Given the description of an element on the screen output the (x, y) to click on. 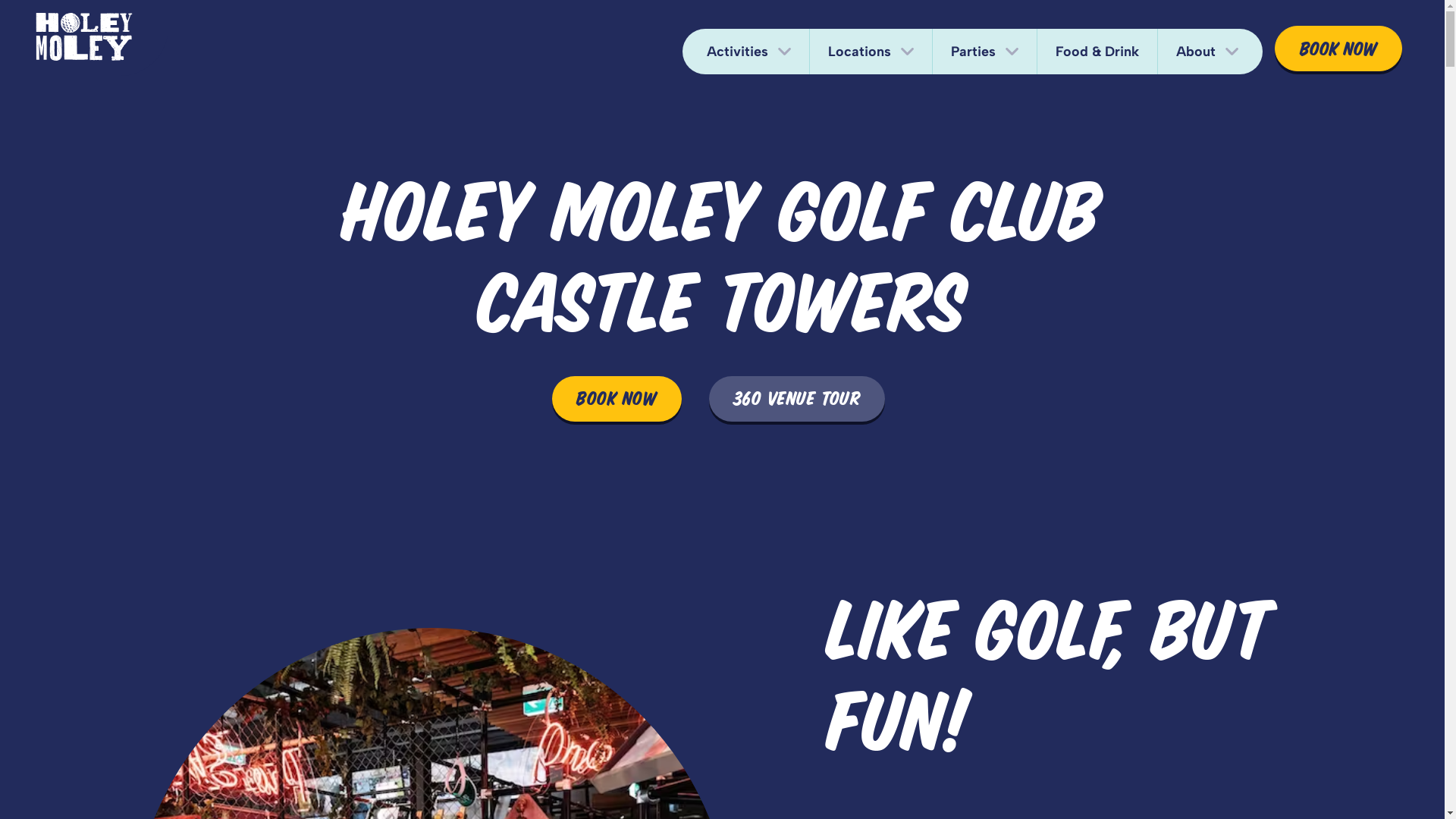
BOOK NOW Element type: text (616, 398)
360 VENUE TOUR Element type: text (796, 398)
Activities Element type: text (745, 51)
Food & Drink Element type: text (1097, 51)
About Element type: text (1209, 51)
Parties Element type: text (984, 51)
Locations Element type: text (870, 51)
